Given the description of an element on the screen output the (x, y) to click on. 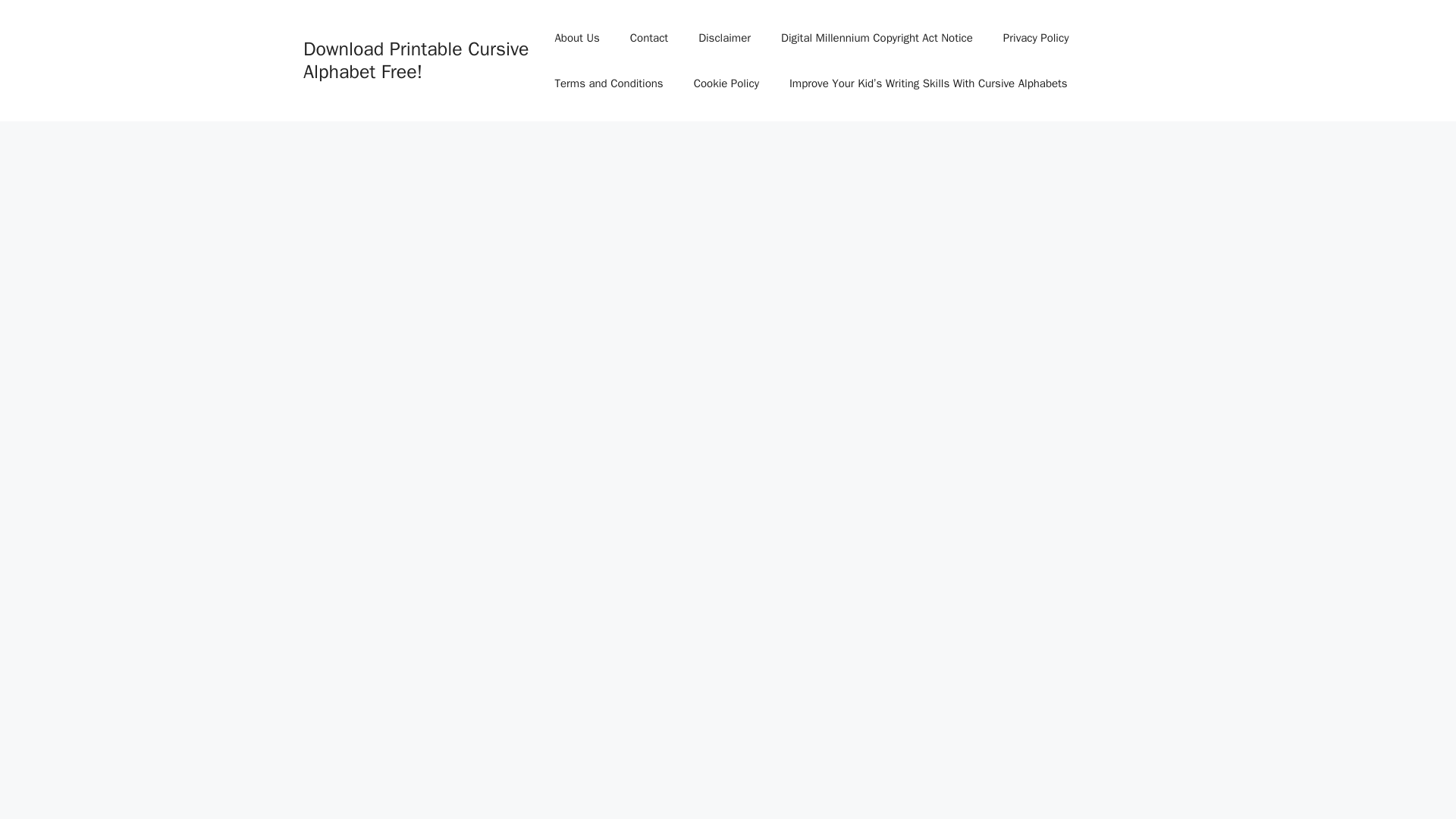
Terms and Conditions (608, 83)
About Us (576, 37)
Contact (648, 37)
Privacy Policy (1036, 37)
Digital Millennium Copyright Act Notice (876, 37)
Disclaimer (723, 37)
Download Printable Cursive Alphabet Free! (415, 59)
Cookie Policy (726, 83)
